Given the description of an element on the screen output the (x, y) to click on. 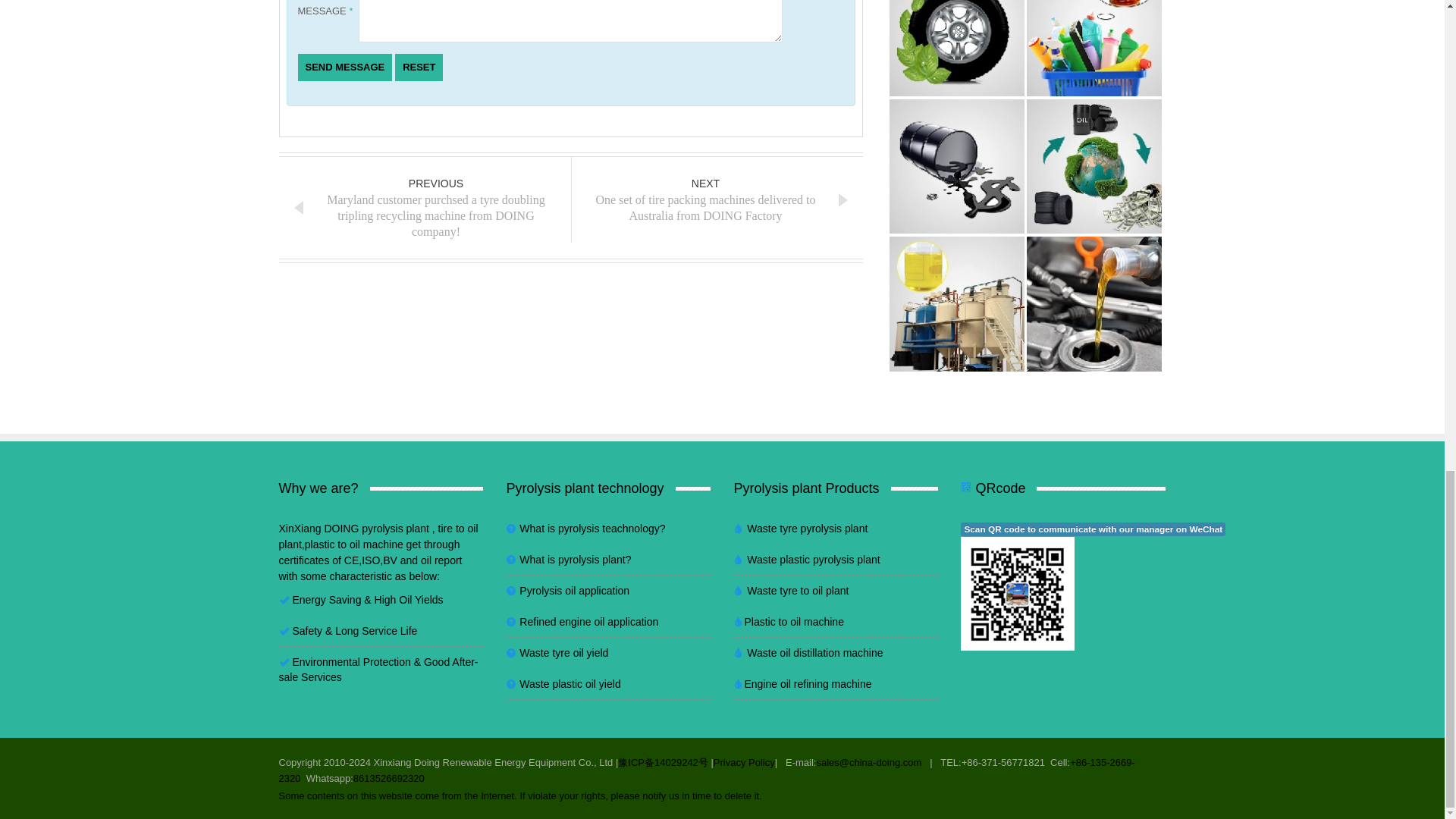
Wate recycling machine (1093, 164)
Tyre pyrolysis plant (957, 27)
Waste Oil refinery (1093, 303)
Tyre oil plant (957, 164)
Reset (418, 67)
Plastic to oil (1093, 27)
Waste oil distillation plant (957, 303)
Send Message (344, 67)
